Given the description of an element on the screen output the (x, y) to click on. 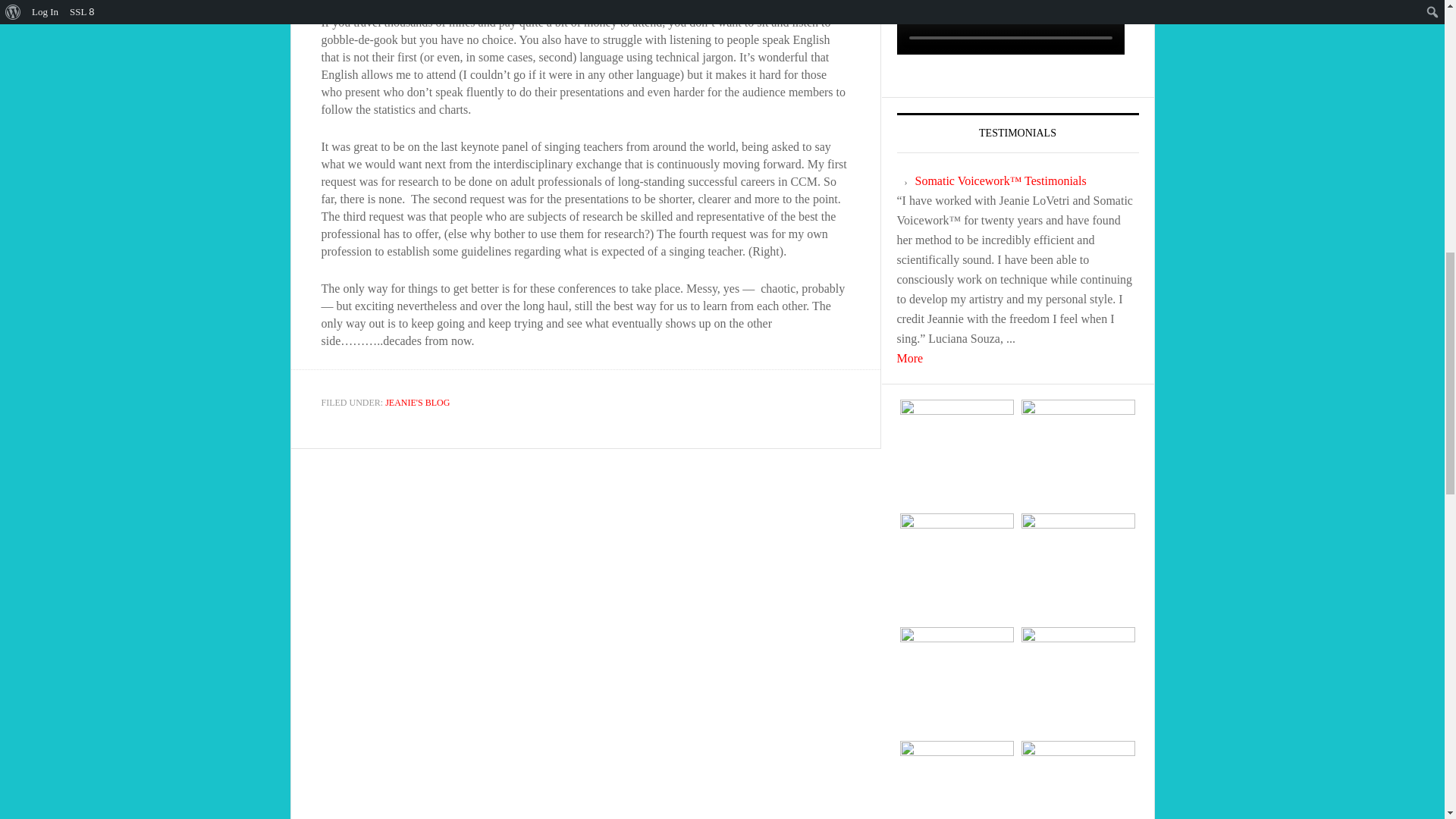
JEANIE'S BLOG (417, 402)
